Given the description of an element on the screen output the (x, y) to click on. 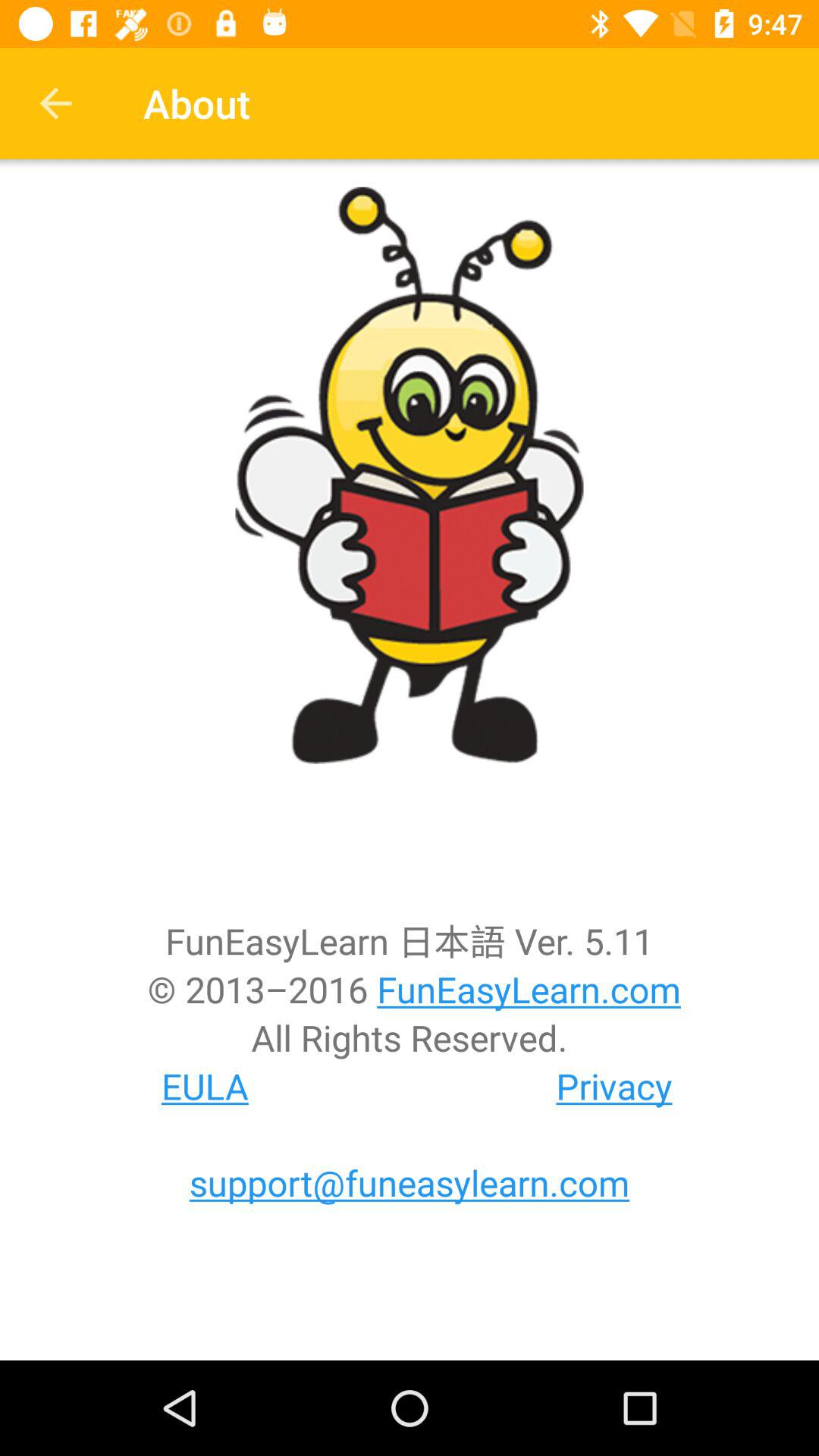
tap icon next to privacy item (204, 1085)
